Given the description of an element on the screen output the (x, y) to click on. 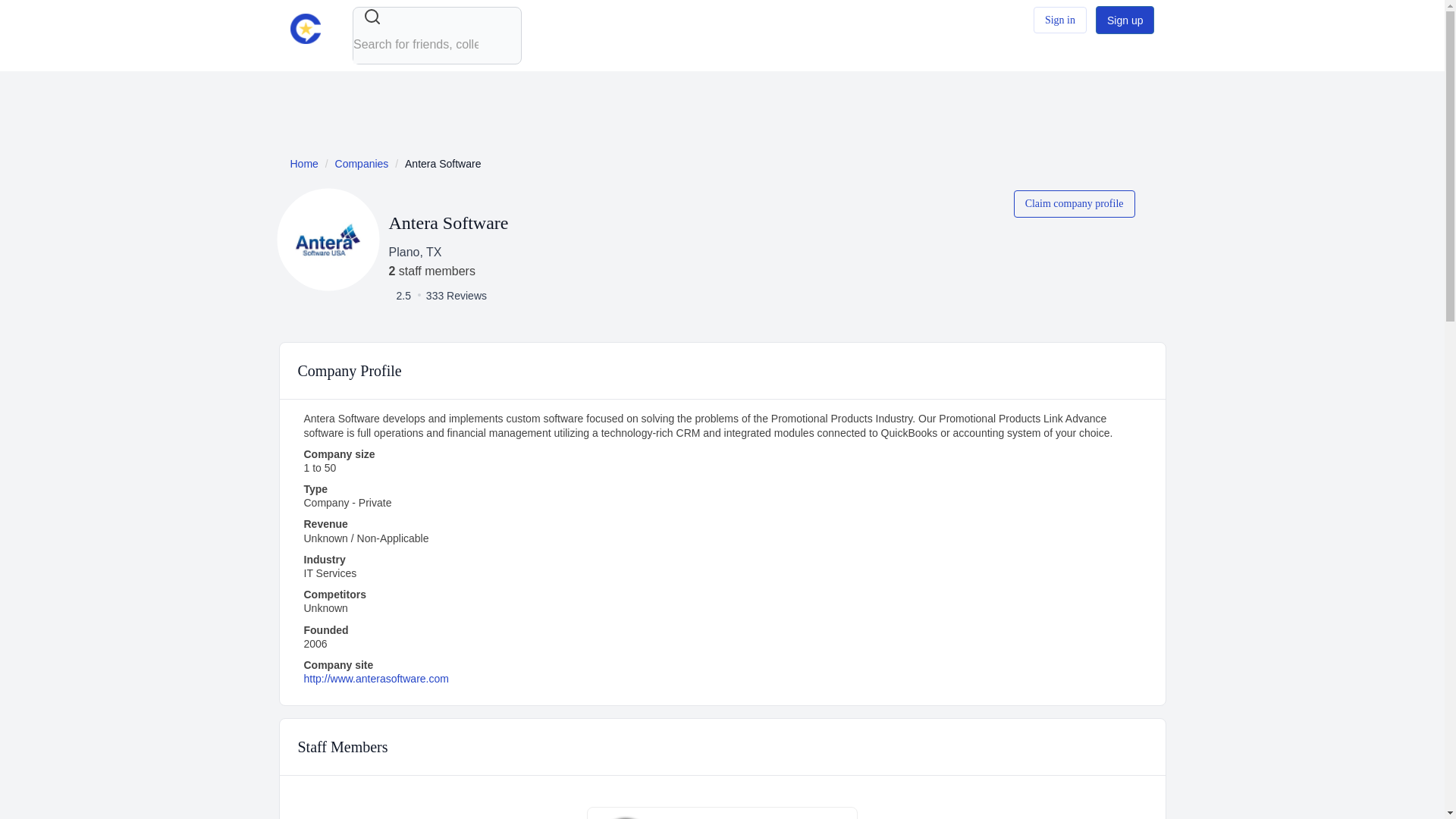
Companies (361, 163)
Sign in (1059, 19)
Sign up (1125, 19)
Home (303, 163)
Claim company profile (1074, 203)
